Given the description of an element on the screen output the (x, y) to click on. 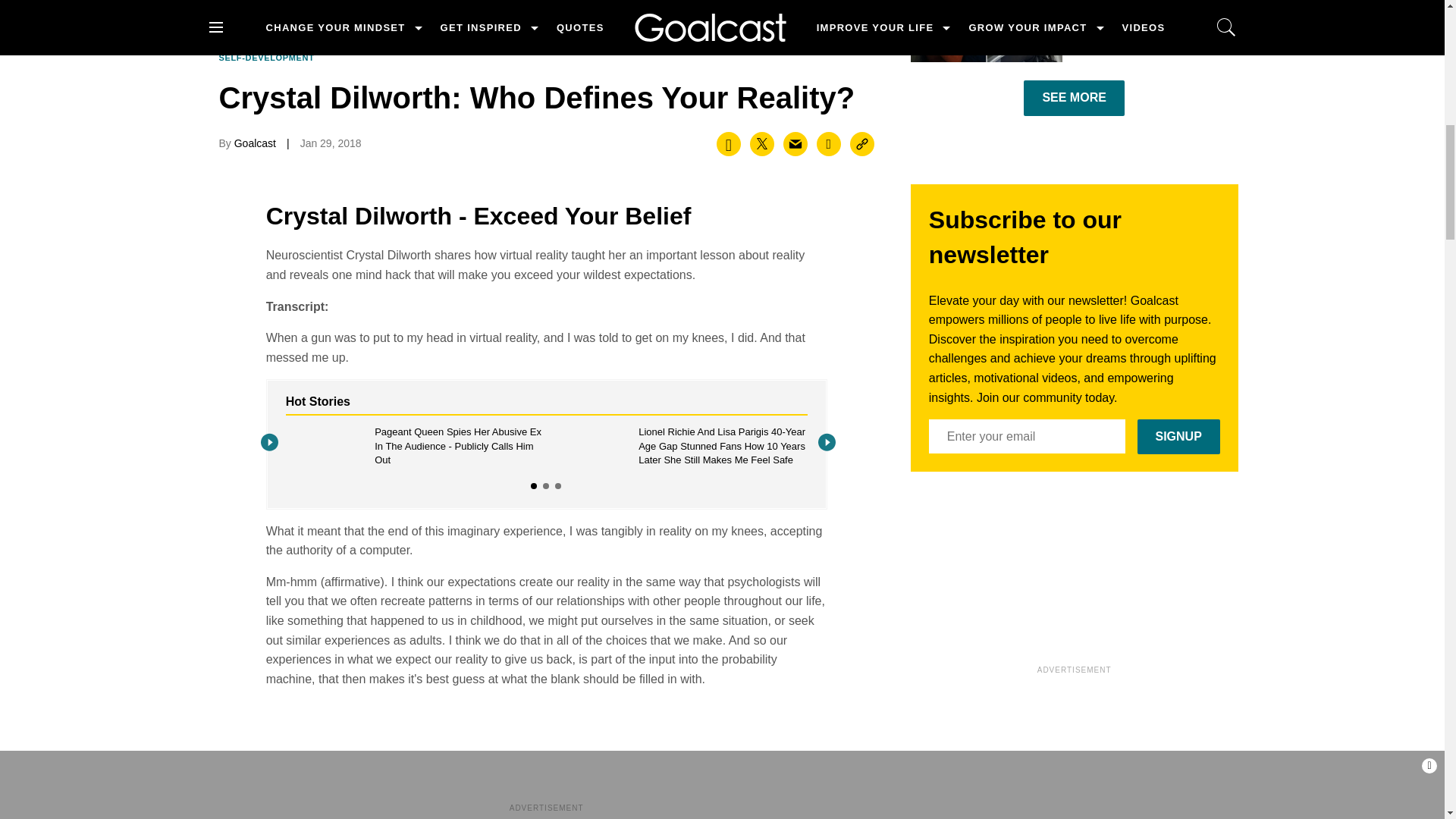
Copy this link to clipboard (862, 143)
